Given the description of an element on the screen output the (x, y) to click on. 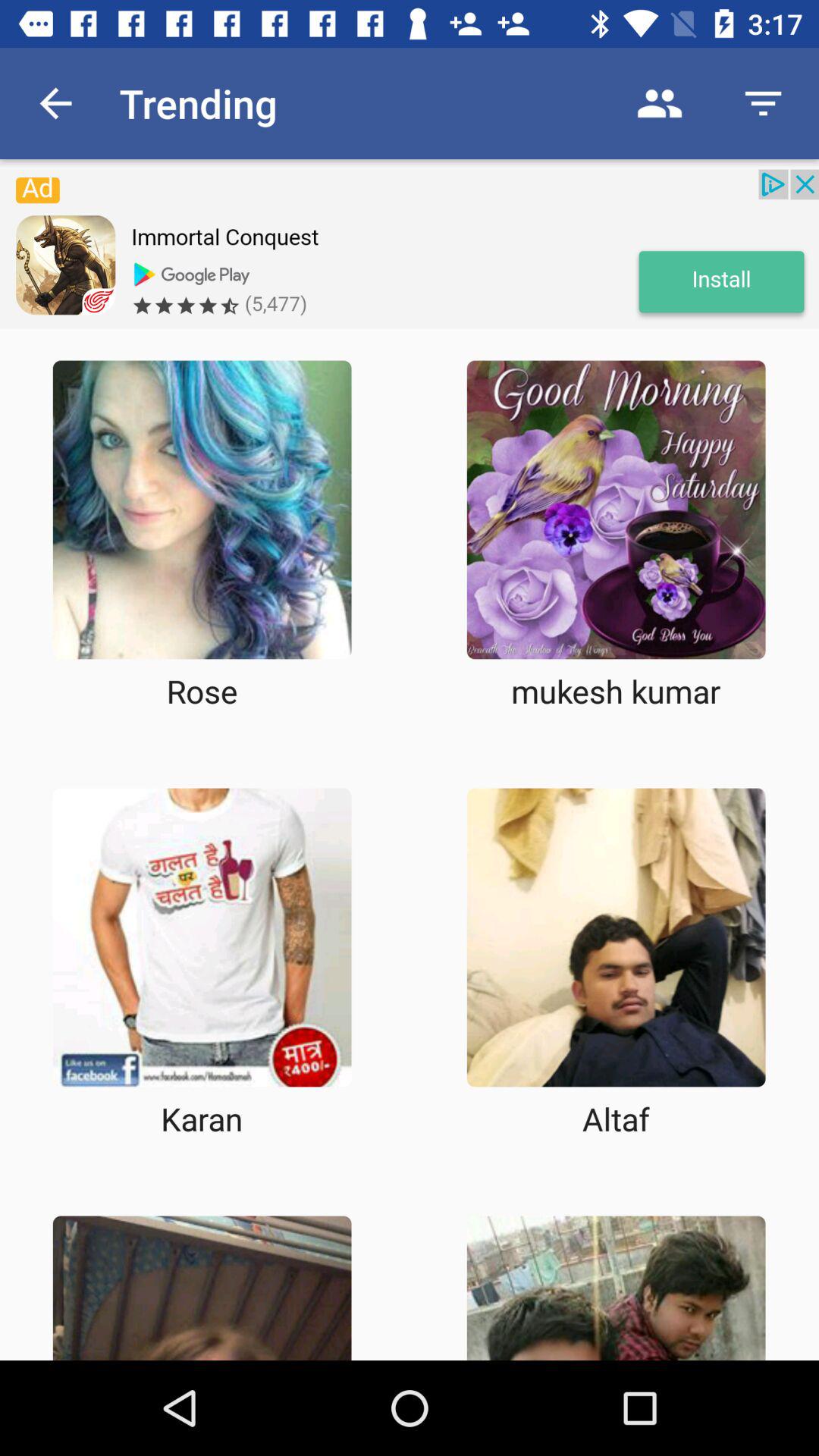
picture selecting (201, 509)
